Given the description of an element on the screen output the (x, y) to click on. 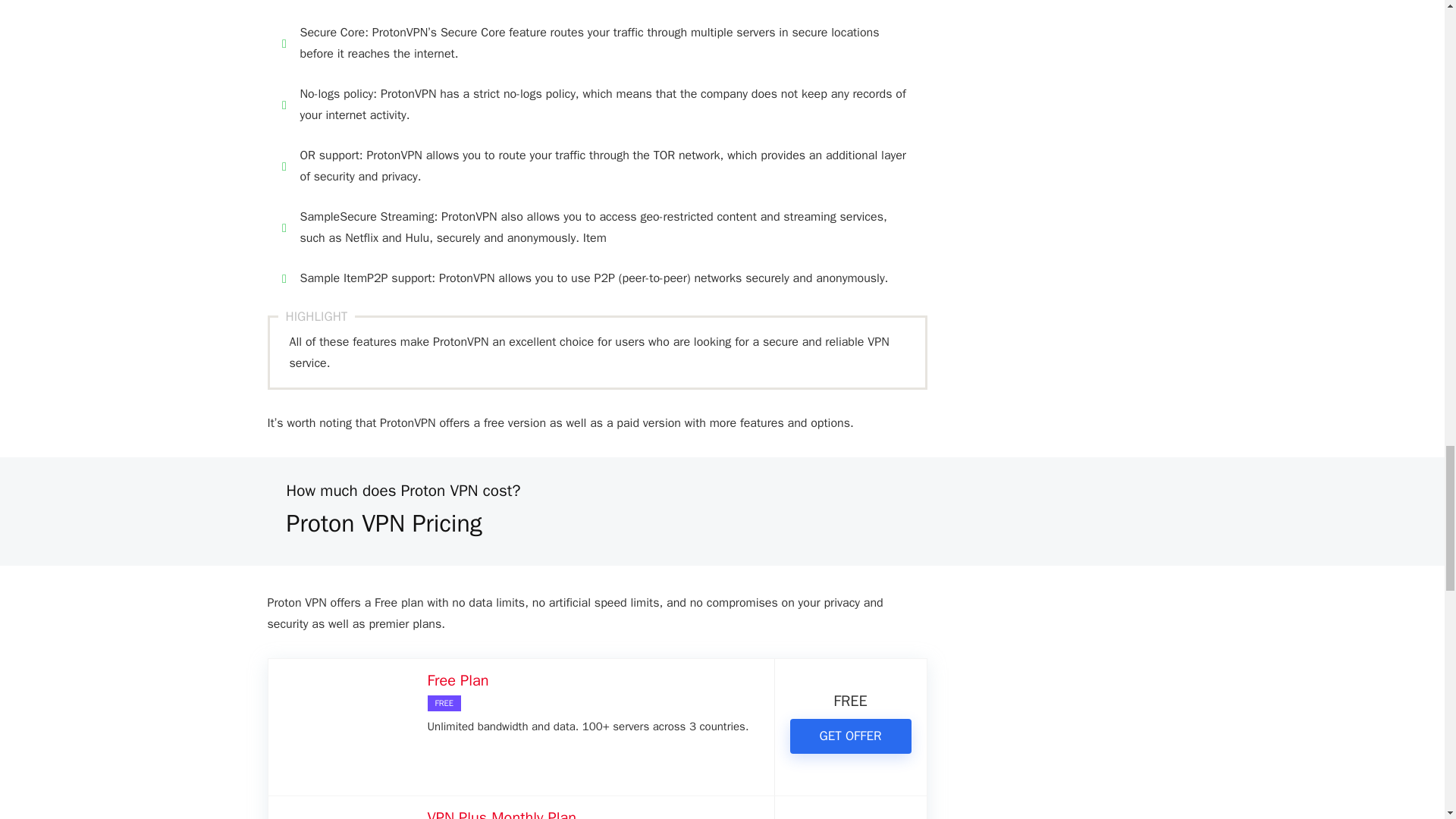
GET OFFER (850, 736)
VPN Plus Monthly Plan (502, 813)
Free Plan (458, 680)
